Given the description of an element on the screen output the (x, y) to click on. 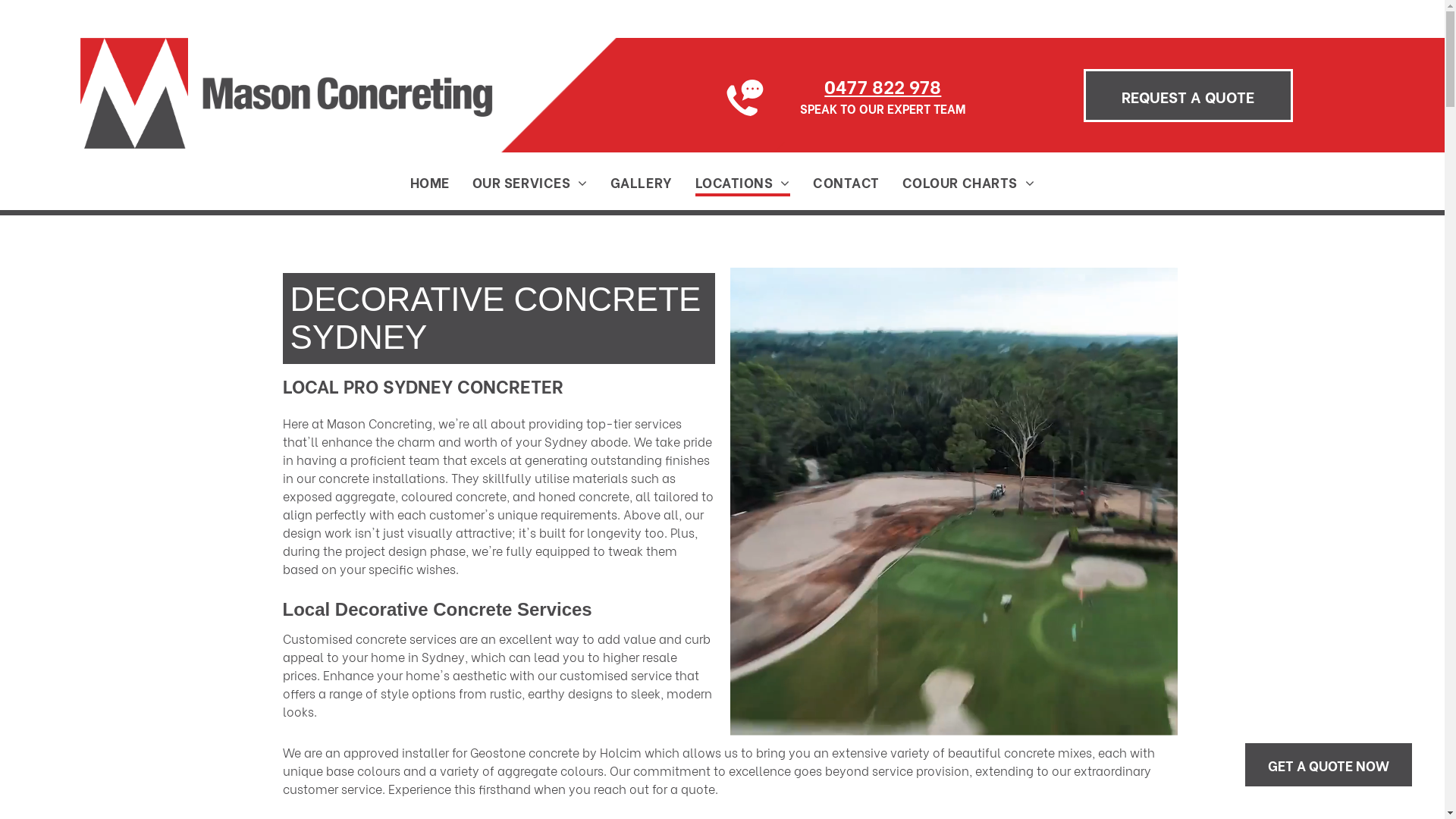
LOCATIONS Element type: text (742, 182)
0477 822 978 Element type: text (882, 85)
COLOUR CHARTS Element type: text (968, 182)
REQUEST A QUOTE Element type: text (1187, 95)
HOME Element type: text (429, 182)
GALLERY Element type: text (641, 182)
OUR SERVICES Element type: text (530, 182)
CONTACT Element type: text (846, 182)
GET A QUOTE NOW Element type: text (1328, 764)
